Given the description of an element on the screen output the (x, y) to click on. 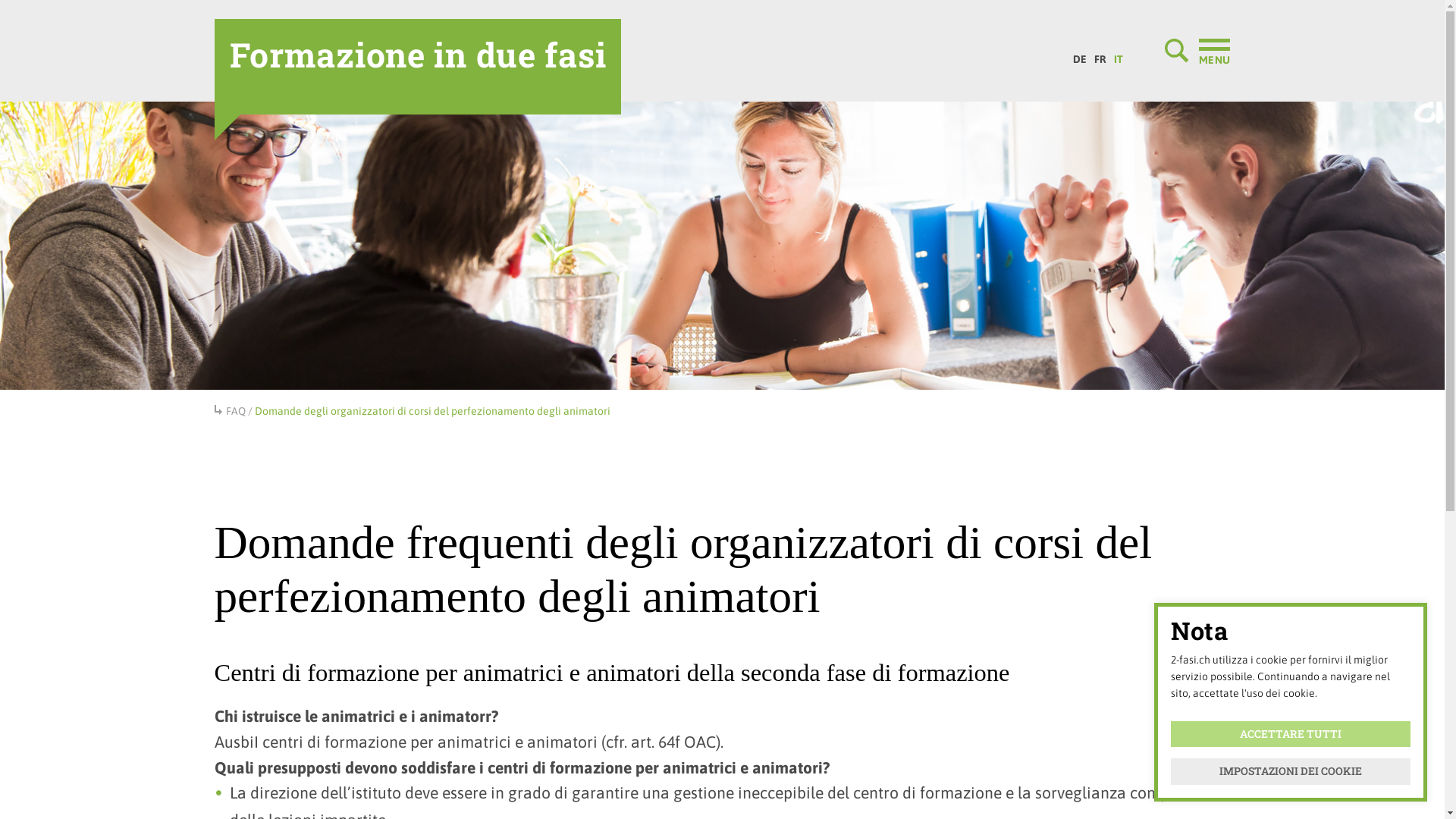
ACCETTARE TUTTI Element type: text (1290, 734)
IT Element type: text (1118, 55)
IMPOSTAZIONI DEI COOKIE Element type: text (1290, 771)
FAQ Element type: text (235, 410)
FR Element type: text (1100, 55)
Formazione in
due fasi Element type: text (417, 66)
DE Element type: text (1079, 55)
MENU Element type: text (1197, 50)
